Given the description of an element on the screen output the (x, y) to click on. 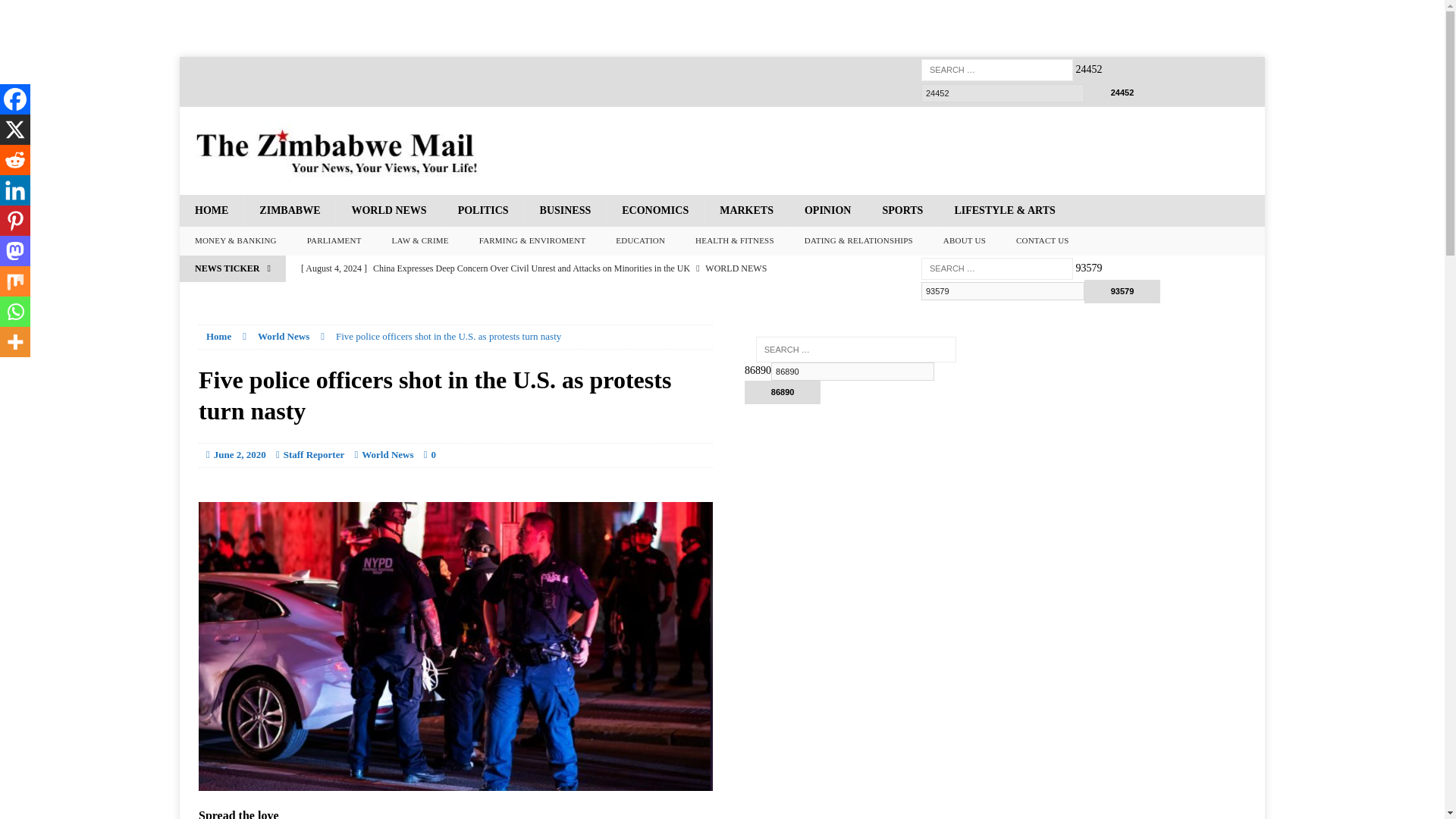
93579 (1122, 291)
SPORTS (901, 210)
Home (218, 336)
BUSINESS (565, 210)
ECONOMICS (654, 210)
Staff Reporter (314, 454)
Search (37, 11)
The Zimbabwe Mail (337, 150)
86890 (852, 371)
POLITICS (483, 210)
24452 (1002, 92)
ABOUT US (964, 240)
World News (282, 336)
